Given the description of an element on the screen output the (x, y) to click on. 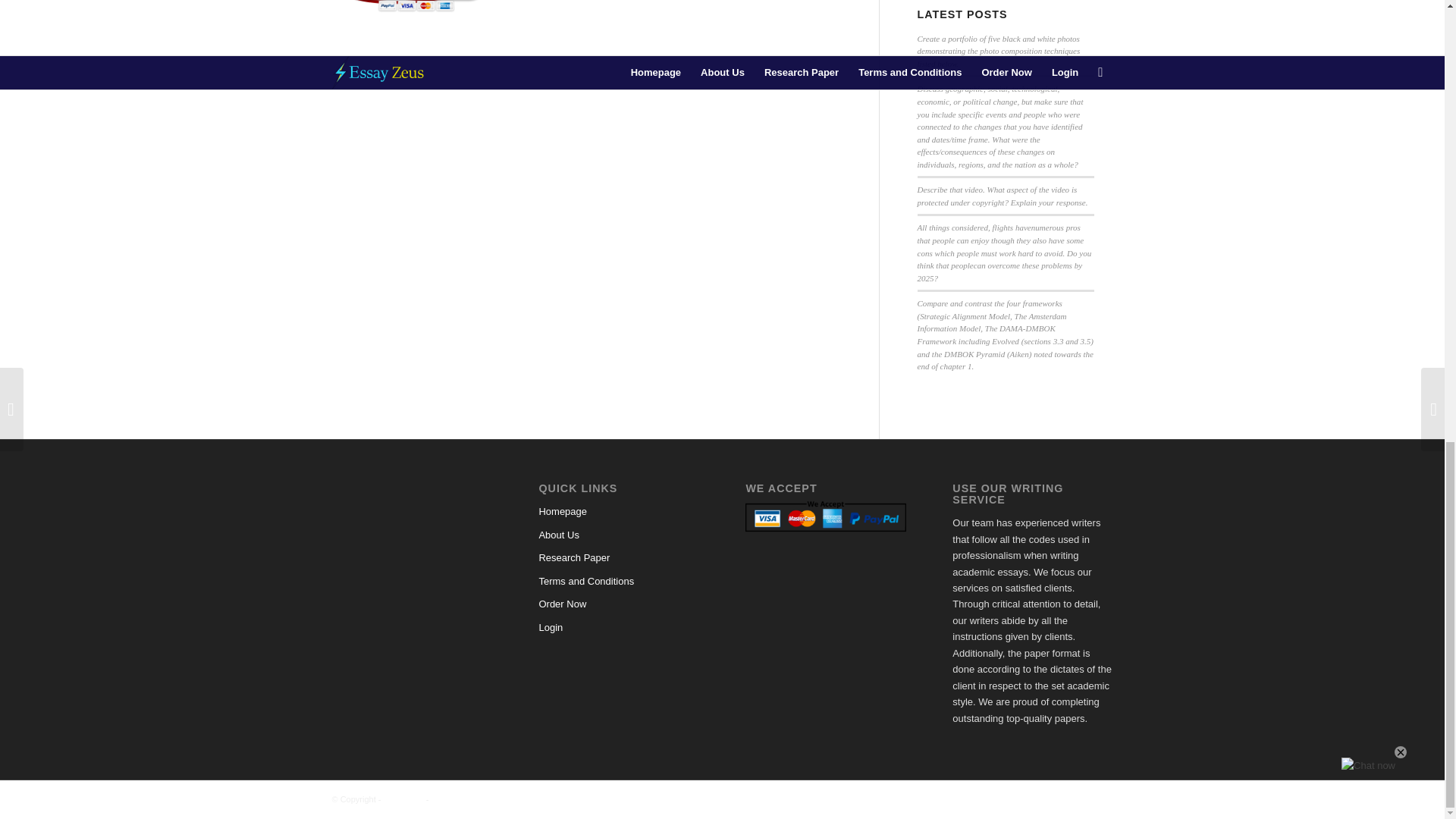
About Us (618, 535)
Research Paper (618, 558)
Homepage (618, 511)
Login (618, 627)
Order Now (618, 603)
Terms and Conditions (618, 581)
Enfold Theme by Kriesi (473, 798)
essayZeus (403, 798)
